Given the description of an element on the screen output the (x, y) to click on. 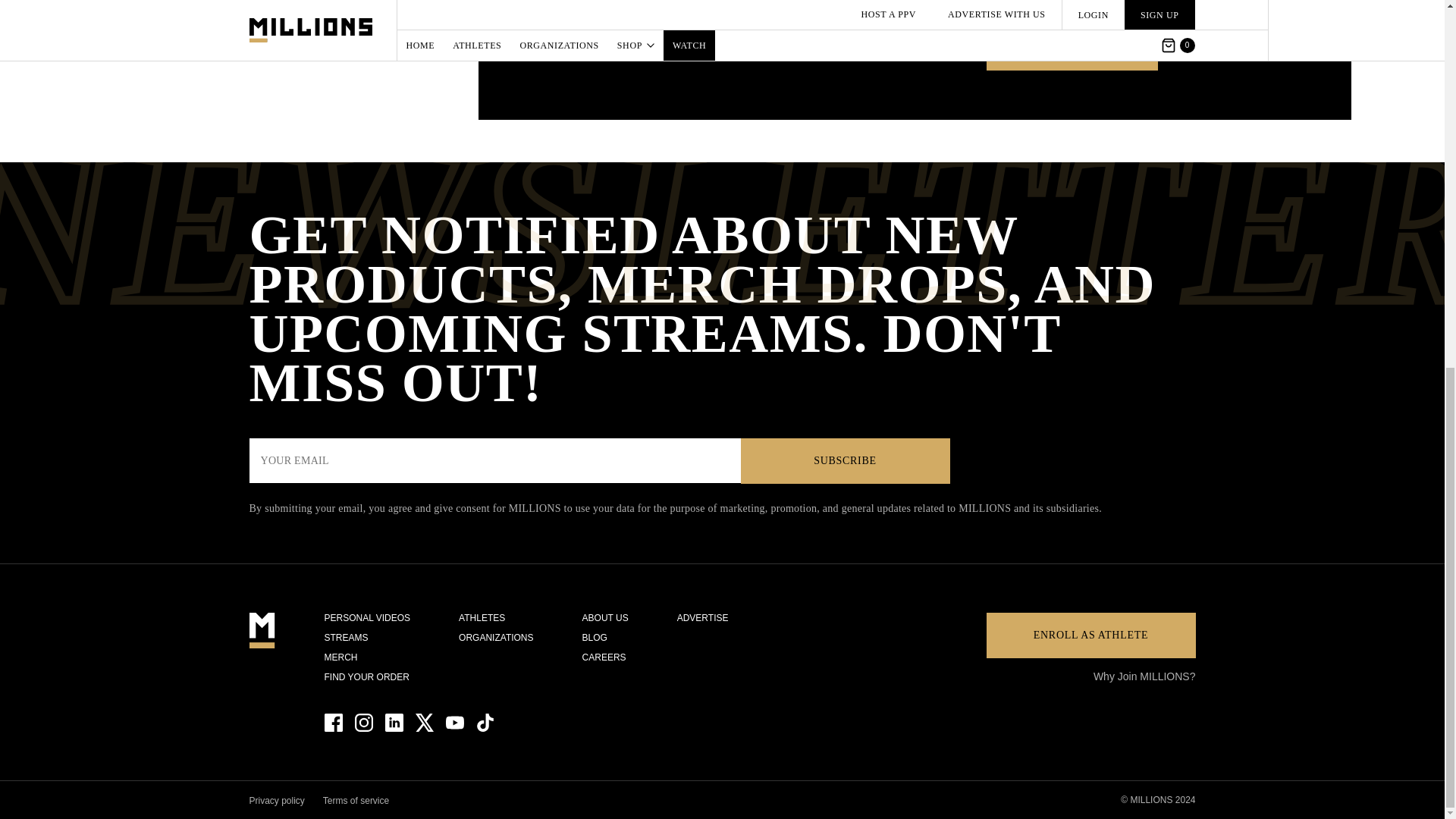
Learn more about Millions at Youtube (454, 722)
Learn more about Millions at Linkedin (394, 722)
Learn more about Millions at Instagram (363, 722)
Learn more about Millions at Twitter (423, 722)
Learn more about Millions at Facebook (333, 722)
